Given the description of an element on the screen output the (x, y) to click on. 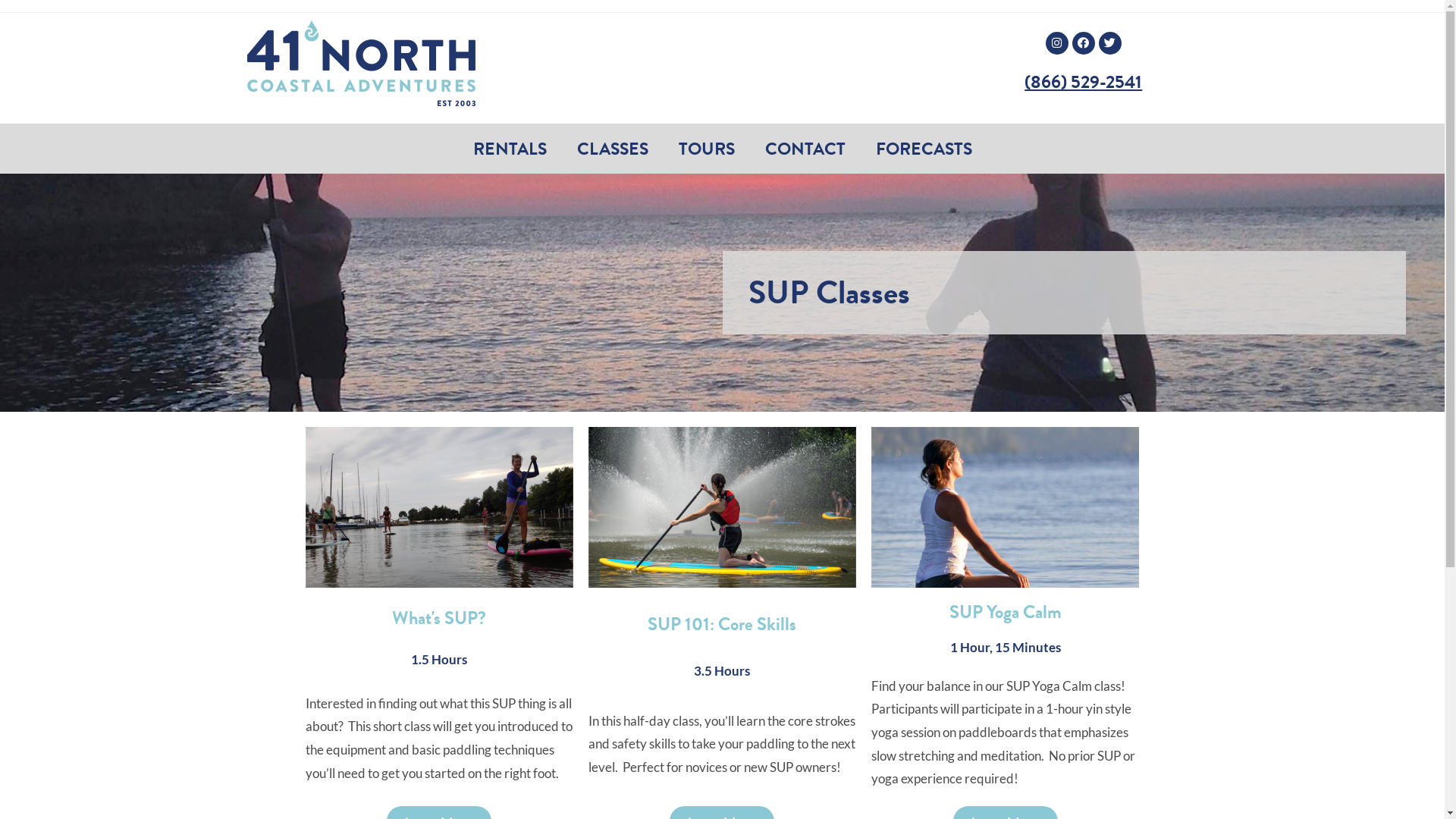
TOURS Element type: text (705, 148)
CLASSES Element type: text (611, 148)
FORECASTS Element type: text (922, 148)
41NLogoHeader Element type: hover (361, 63)
(866) 529-2541 Element type: text (1083, 81)
CONTACT Element type: text (804, 148)
RENTALS Element type: text (509, 148)
